Given the description of an element on the screen output the (x, y) to click on. 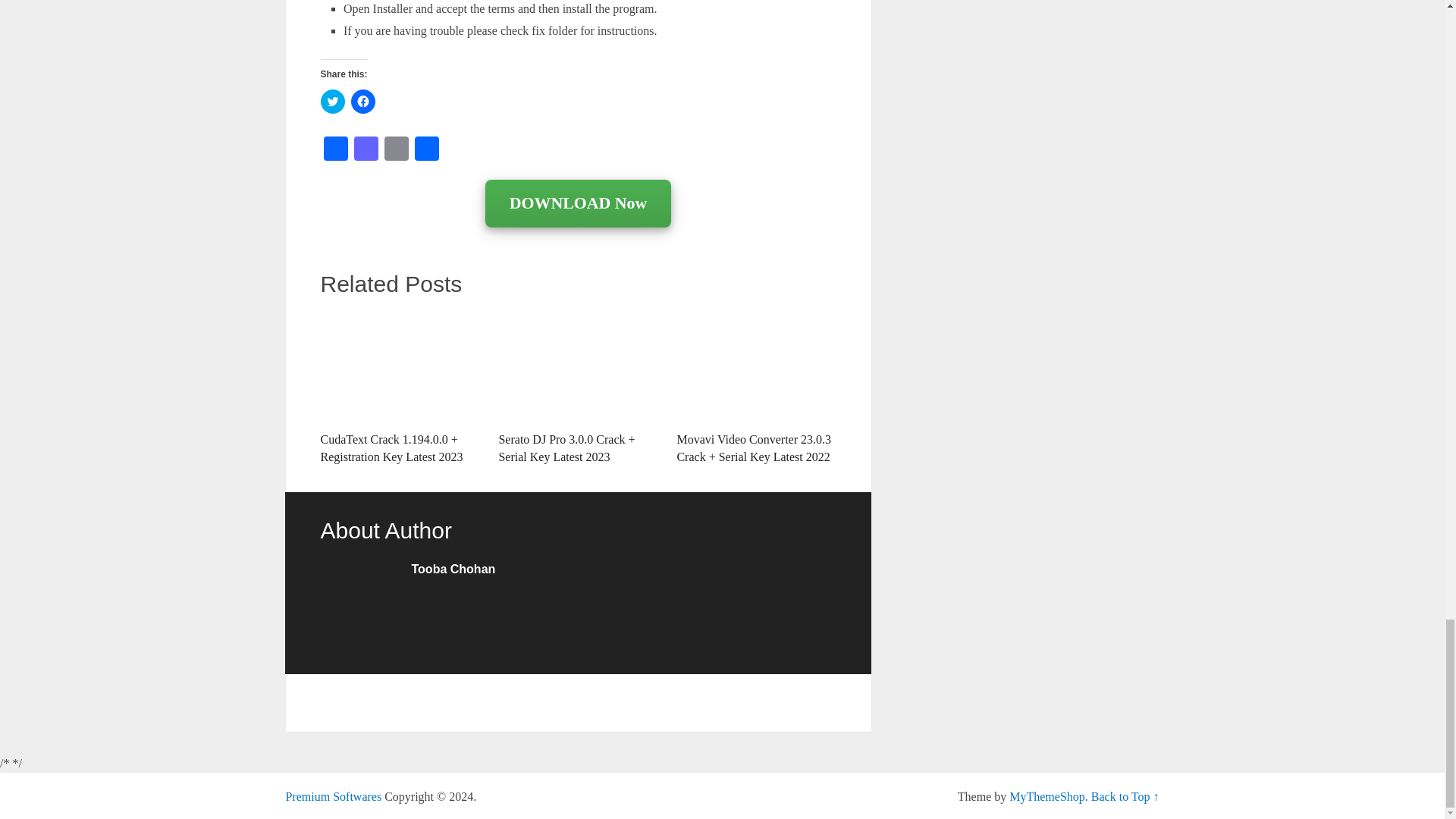
Email (395, 150)
DOWNLOAD Now (577, 203)
Mastodon (365, 150)
MyThemeShop (1046, 796)
Share (425, 150)
DOWNLOAD Now (577, 204)
Premium Softwares (333, 796)
Click to share on Facebook (362, 101)
Facebook (335, 150)
Click to share on Twitter (331, 101)
